Given the description of an element on the screen output the (x, y) to click on. 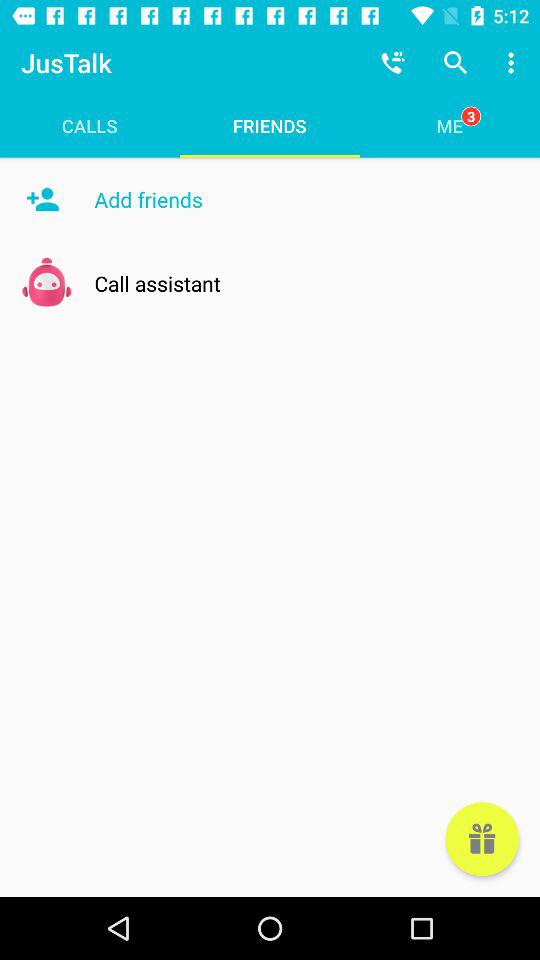
tap the icon at the bottom right corner (482, 839)
